Given the description of an element on the screen output the (x, y) to click on. 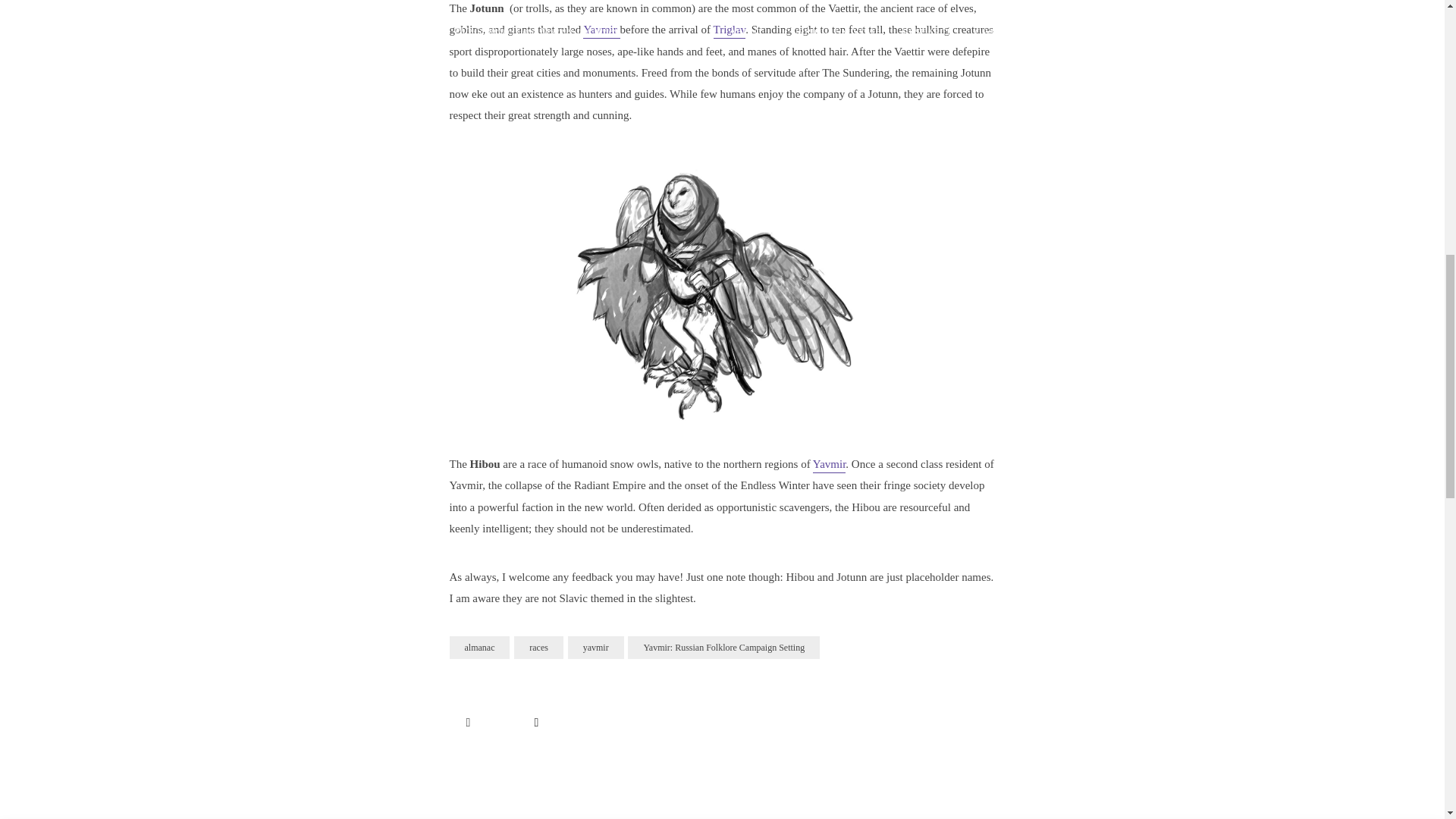
Yavmir (828, 465)
races (538, 647)
yavmir (828, 465)
almanac (478, 647)
yavmir (595, 647)
Triglav (729, 30)
triglav (729, 30)
Yavmir (601, 30)
Yavmir: Russian Folklore Campaign Setting (723, 647)
Yavmir (601, 30)
